Given the description of an element on the screen output the (x, y) to click on. 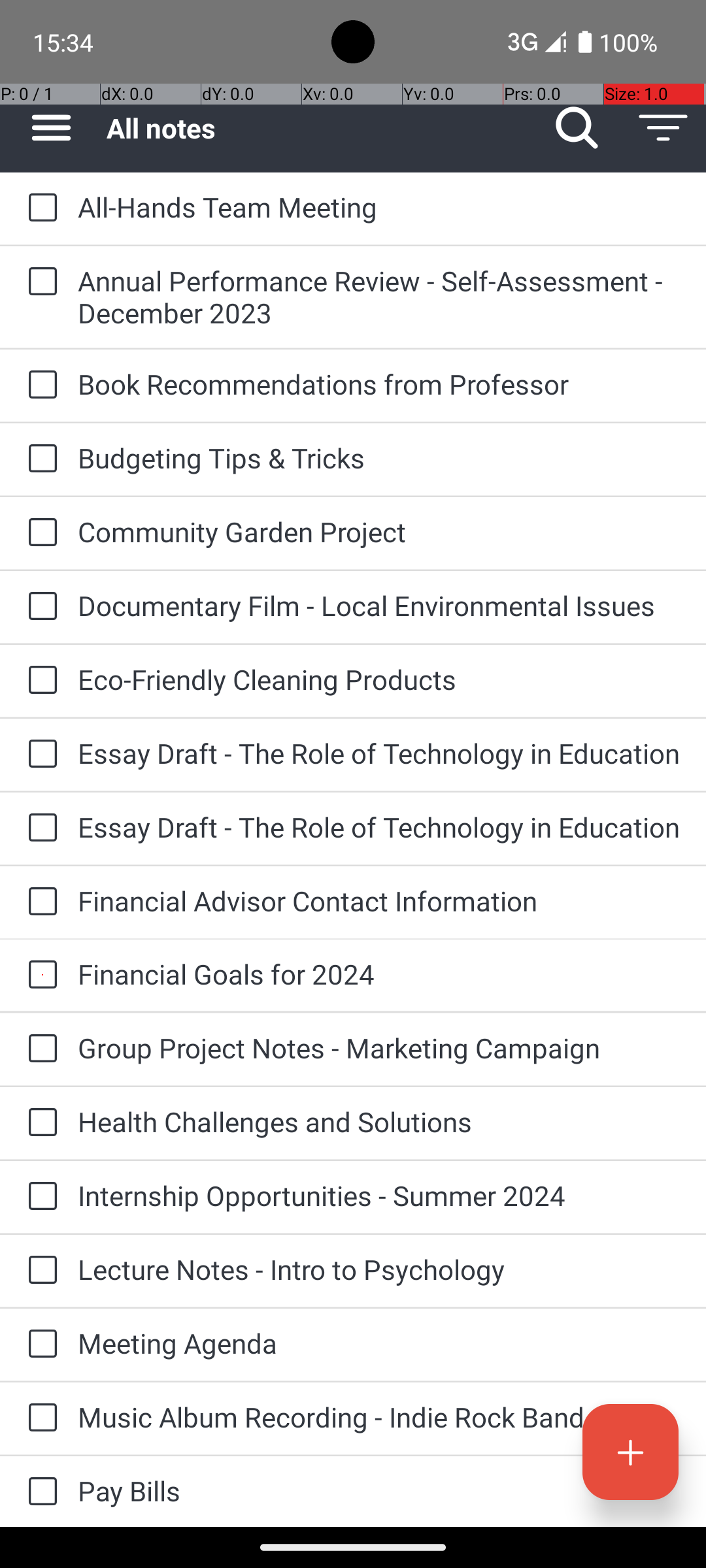
Sidebar Element type: android.widget.Button (44, 127)
All notes Element type: android.widget.TextView (320, 127)
Sort notes by Element type: android.widget.Button (663, 127)
Add new, collapsed Element type: android.widget.Button (630, 1452)
 Element type: android.widget.TextView (51, 127)
 Element type: android.widget.TextView (576, 127)
 Element type: android.widget.TextView (663, 127)
 Element type: android.widget.TextView (630, 1451)
to-do: All-Hands Team Meeting Element type: android.widget.CheckBox (38, 208)
All-Hands Team Meeting Element type: android.widget.TextView (378, 206)
to-do: Annual Performance Review - Self-Assessment - December 2023 Element type: android.widget.CheckBox (38, 282)
Annual Performance Review - Self-Assessment - December 2023 Element type: android.widget.TextView (378, 296)
to-do: Book Recommendations from Professor Element type: android.widget.CheckBox (38, 385)
Book Recommendations from Professor Element type: android.widget.TextView (378, 383)
to-do: Budgeting Tips & Tricks Element type: android.widget.CheckBox (38, 459)
Budgeting Tips & Tricks Element type: android.widget.TextView (378, 457)
to-do: Community Garden Project Element type: android.widget.CheckBox (38, 533)
Community Garden Project Element type: android.widget.TextView (378, 531)
to-do: Documentary Film - Local Environmental Issues Element type: android.widget.CheckBox (38, 606)
Documentary Film - Local Environmental Issues Element type: android.widget.TextView (378, 604)
to-do: Eco-Friendly Cleaning Products Element type: android.widget.CheckBox (38, 680)
Eco-Friendly Cleaning Products Element type: android.widget.TextView (378, 678)
to-do: Essay Draft - The Role of Technology in Education Element type: android.widget.CheckBox (38, 754)
Essay Draft - The Role of Technology in Education Element type: android.widget.TextView (378, 752)
to-do: Financial Advisor Contact Information Element type: android.widget.CheckBox (38, 902)
Financial Advisor Contact Information Element type: android.widget.TextView (378, 900)
to-do: Financial Goals for 2024 Element type: android.widget.CheckBox (38, 975)
Financial Goals for 2024 Element type: android.widget.TextView (378, 973)
to-do: Group Project Notes - Marketing Campaign Element type: android.widget.CheckBox (38, 1049)
Group Project Notes - Marketing Campaign Element type: android.widget.TextView (378, 1047)
to-do: Health Challenges and Solutions Element type: android.widget.CheckBox (38, 1123)
Health Challenges and Solutions Element type: android.widget.TextView (378, 1121)
to-do: Internship Opportunities - Summer 2024 Element type: android.widget.CheckBox (38, 1196)
Internship Opportunities - Summer 2024 Element type: android.widget.TextView (378, 1194)
to-do: Lecture Notes - Intro to Psychology Element type: android.widget.CheckBox (38, 1270)
Lecture Notes - Intro to Psychology Element type: android.widget.TextView (378, 1268)
to-do: Meeting Agenda Element type: android.widget.CheckBox (38, 1344)
Meeting Agenda Element type: android.widget.TextView (378, 1342)
to-do: Music Album Recording - Indie Rock Band Element type: android.widget.CheckBox (38, 1418)
Music Album Recording - Indie Rock Band Element type: android.widget.TextView (378, 1416)
to-do: Pay Bills Element type: android.widget.CheckBox (38, 1491)
Pay Bills Element type: android.widget.TextView (378, 1490)
 Element type: android.widget.TextView (42, 208)
